Given the description of an element on the screen output the (x, y) to click on. 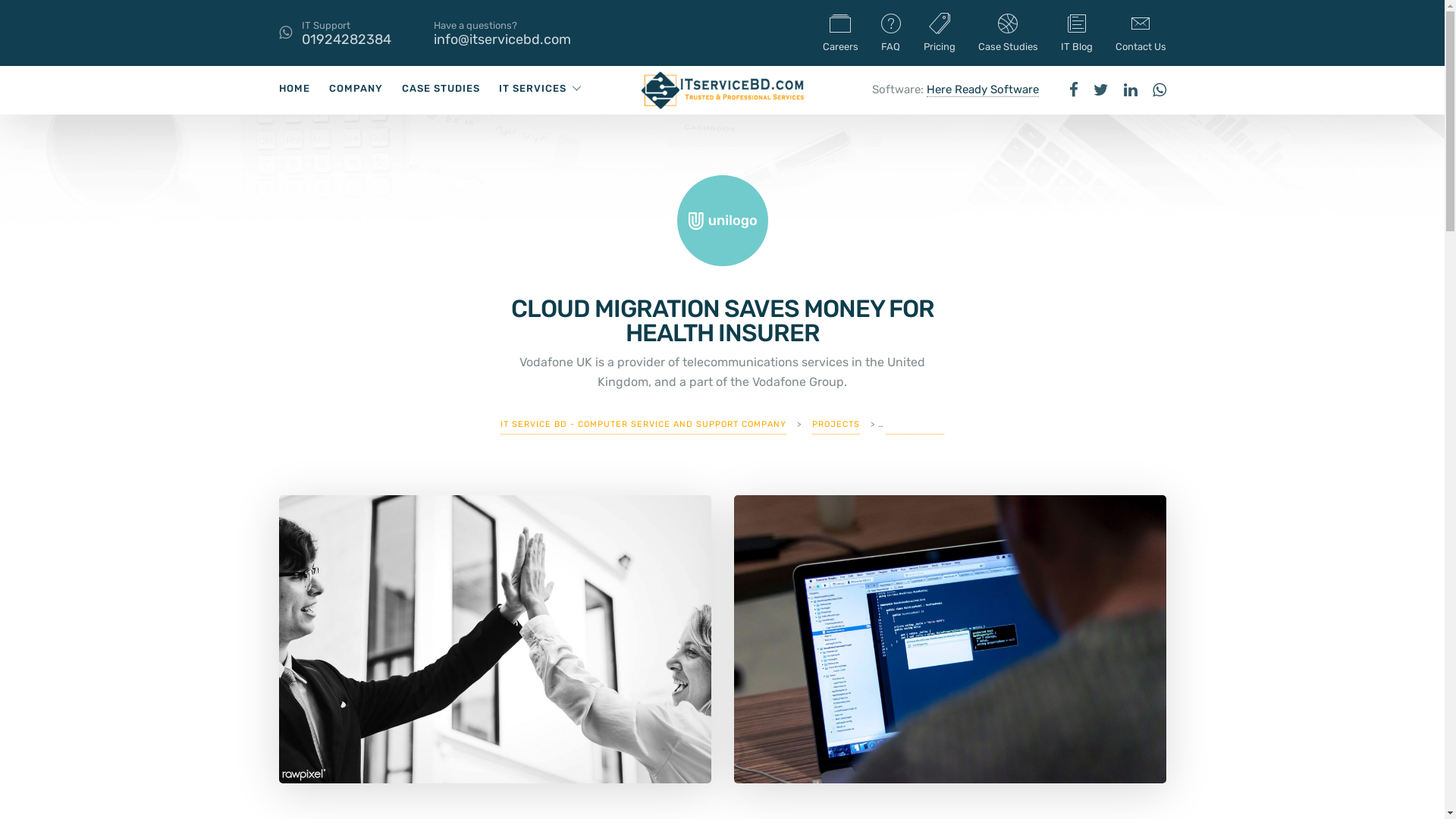
Careers Element type: text (839, 32)
Pricing Element type: text (939, 32)
IT SERVICES Element type: text (532, 87)
FAQ Element type: text (890, 32)
IT SERVICE BD - COMPUTER SERVICE AND SUPPORT COMPANY Element type: text (643, 423)
Here Ready Software Element type: text (982, 89)
CASE STUDIES Element type: text (440, 87)
PROJECTS Element type: text (835, 423)
HEALTHCARE INDUSTRY Element type: text (940, 423)
Have a questions?
info@itservicebd.com Element type: text (502, 32)
IT Support
01924282384 Element type: text (346, 32)
IT Blog Element type: text (1076, 32)
Contact Us Element type: text (1139, 32)
Case Studies Element type: text (1008, 32)
COMPANY Element type: text (355, 87)
Search Element type: text (1335, 55)
HOME Element type: text (294, 87)
